Given the description of an element on the screen output the (x, y) to click on. 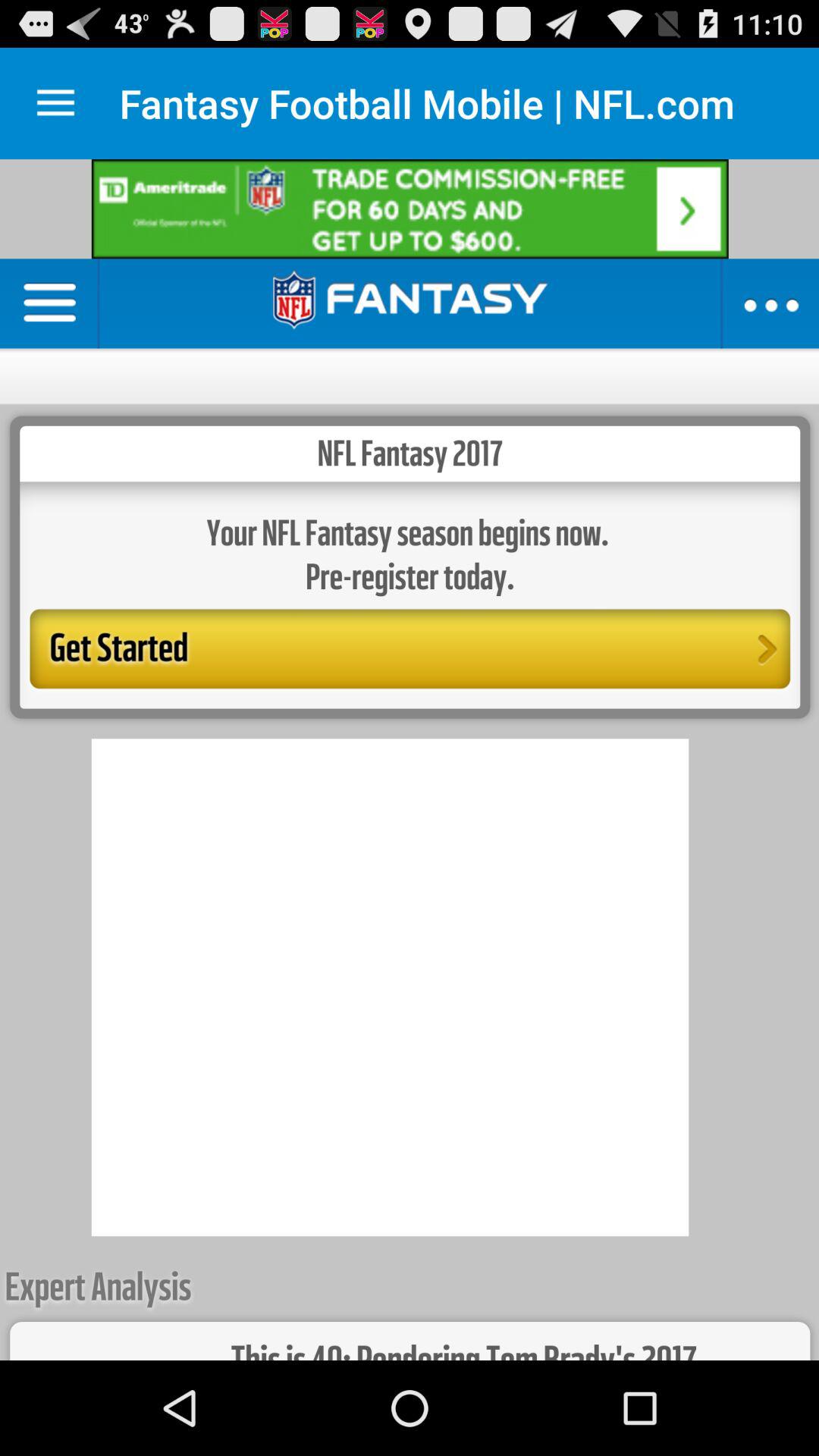
settings option (55, 103)
